Given the description of an element on the screen output the (x, y) to click on. 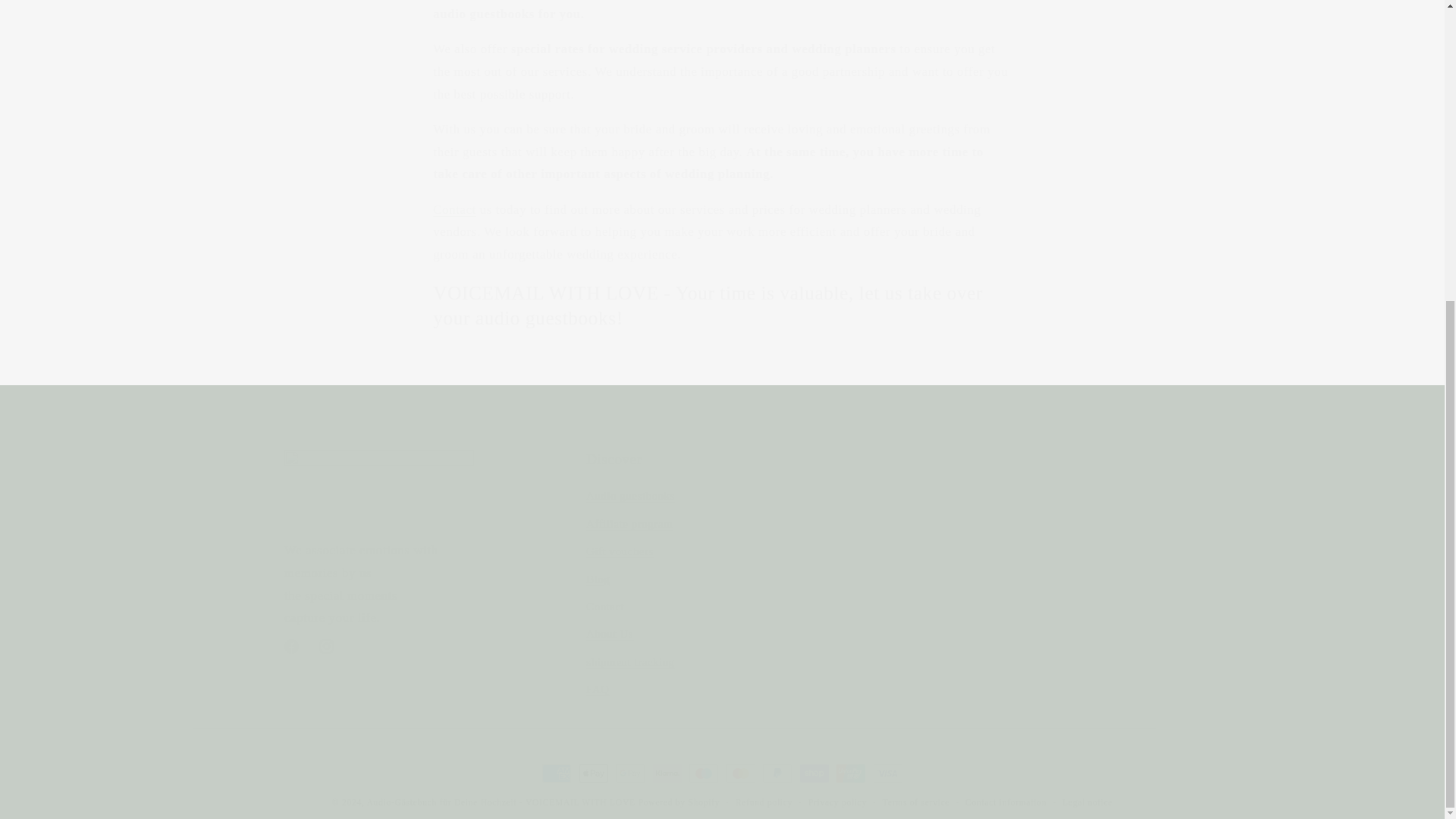
Audio guestbooks (630, 498)
Affiliate program (629, 523)
Instagram (325, 646)
Gift vouchers (619, 551)
Contact (454, 209)
Facebook (290, 646)
